Given the description of an element on the screen output the (x, y) to click on. 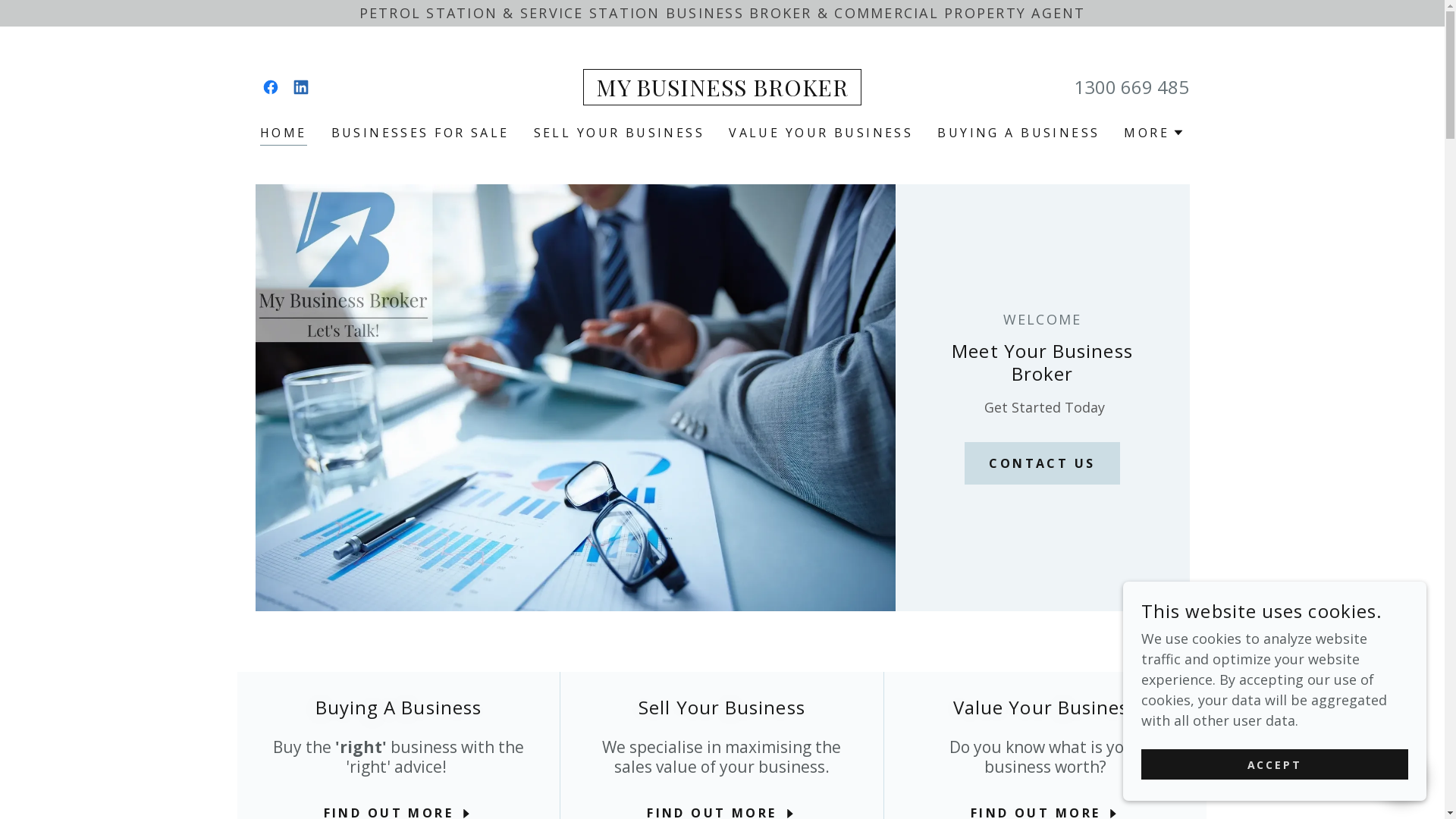
BUSINESSES FOR SALE Element type: text (419, 132)
MORE Element type: text (1153, 132)
MY BUSINESS BROKER Element type: text (722, 90)
HOME Element type: text (283, 134)
BUYING A BUSINESS Element type: text (1018, 132)
ACCEPT Element type: text (1274, 764)
VALUE YOUR BUSINESS Element type: text (820, 132)
CONTACT US Element type: text (1041, 463)
1300 669 485 Element type: text (1131, 86)
SELL YOUR BUSINESS Element type: text (619, 132)
